Given the description of an element on the screen output the (x, y) to click on. 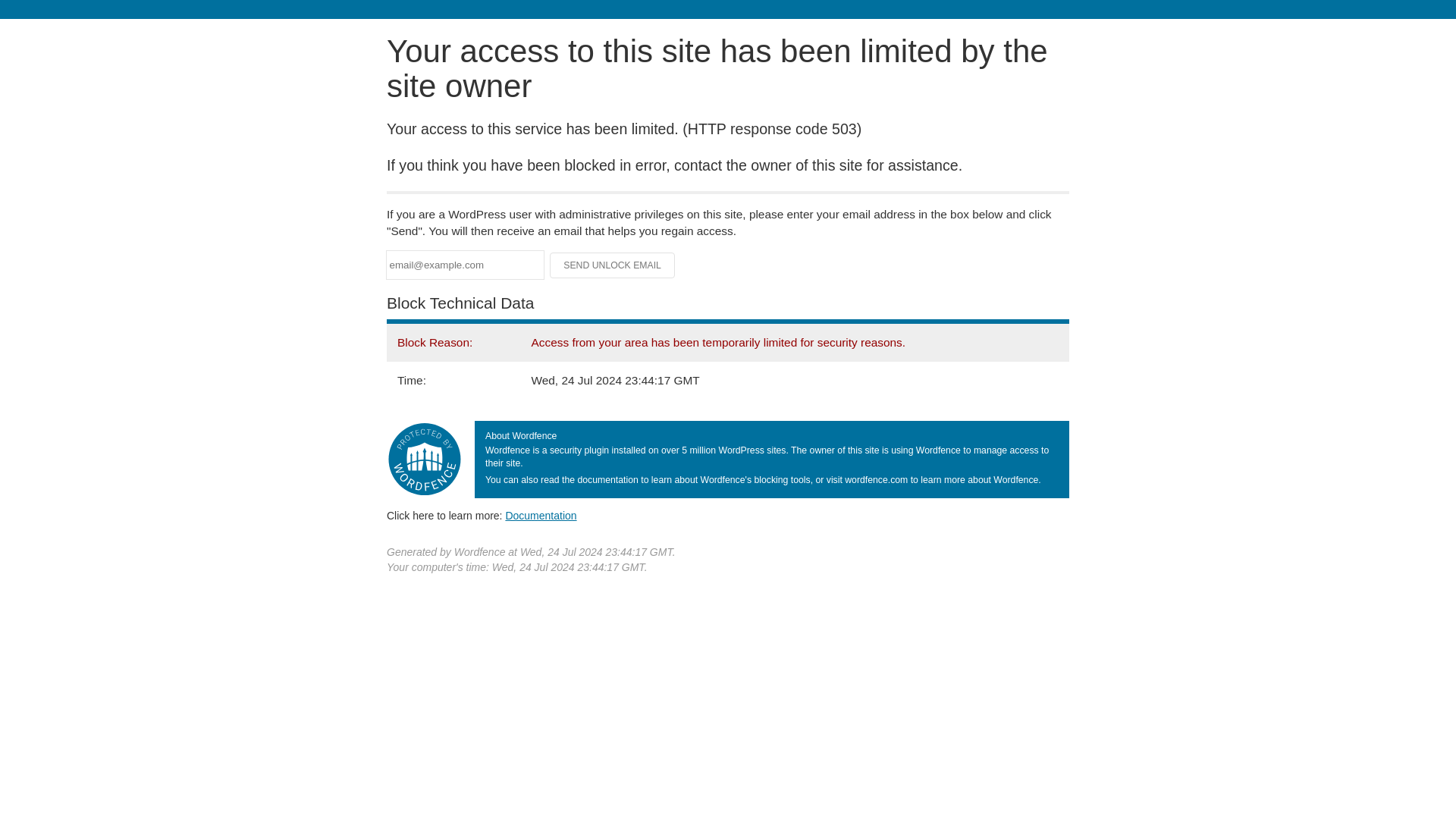
Send Unlock Email (612, 265)
Send Unlock Email (612, 265)
Documentation (540, 515)
